Given the description of an element on the screen output the (x, y) to click on. 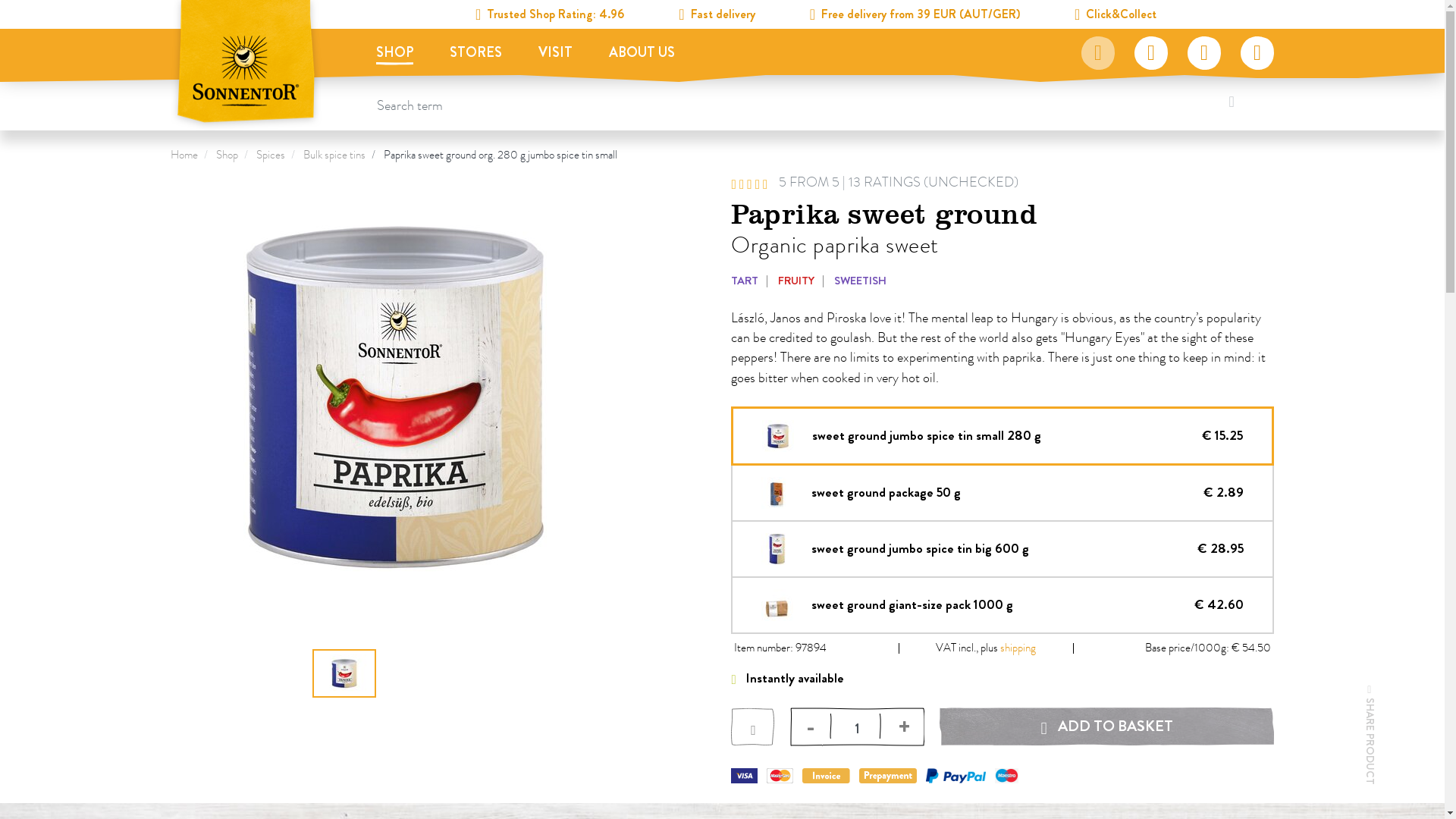
PayPal (955, 775)
Kreditkarte: Mastercard (780, 775)
Add to wishlist (752, 725)
1 (857, 724)
Trusted Shop Rating: 4.96 (549, 14)
Kreditkarte: Visa (743, 775)
Rechnung (826, 775)
SHOP (394, 55)
Fast delivery (715, 14)
